Given the description of an element on the screen output the (x, y) to click on. 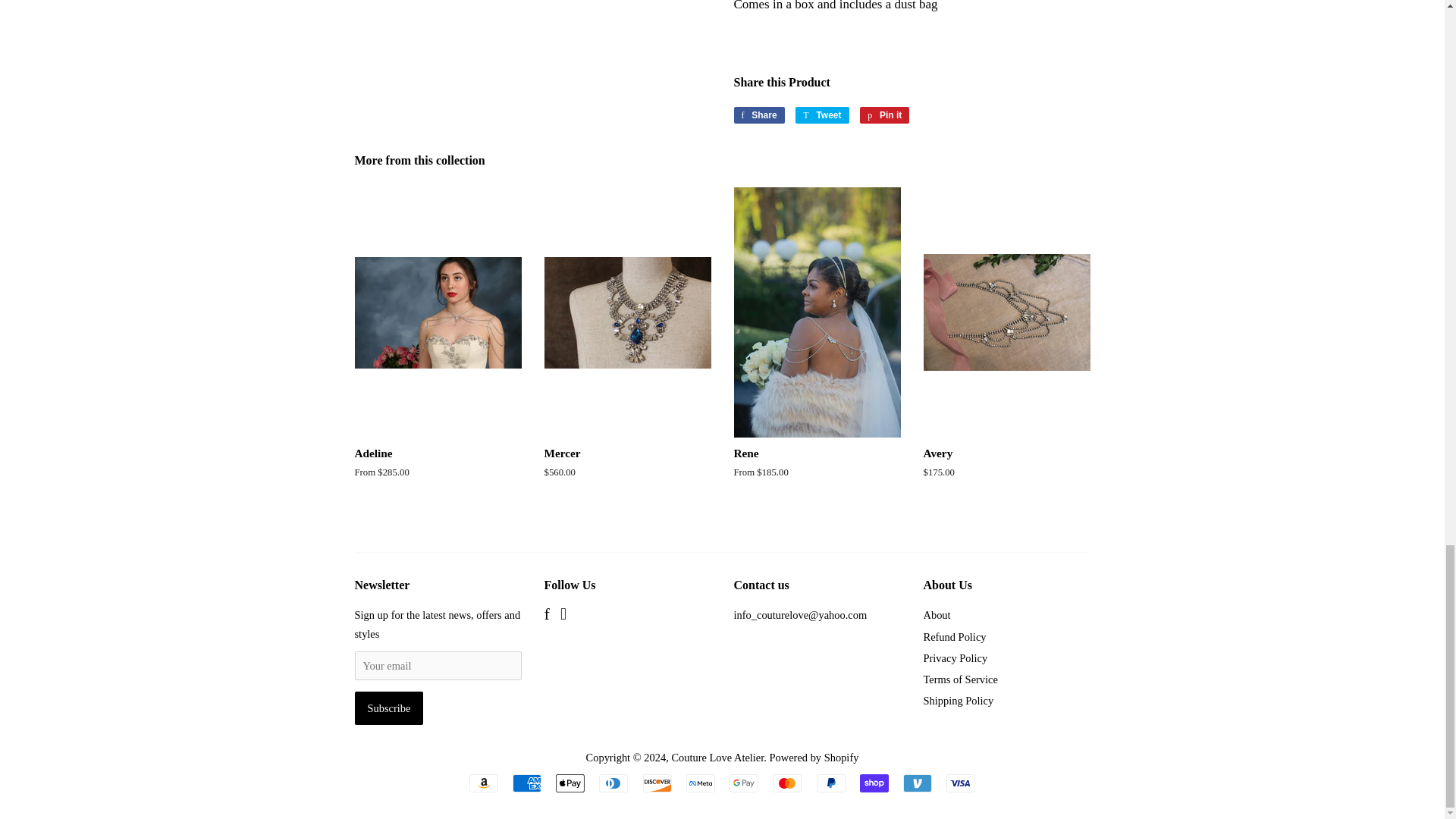
Tweet on Twitter (821, 115)
Discover (657, 782)
Mastercard (787, 782)
Subscribe (389, 707)
Apple Pay (758, 115)
Visa (570, 782)
PayPal (960, 782)
American Express (830, 782)
Diners Club (821, 115)
Google Pay (526, 782)
Meta Pay (884, 115)
Shop Pay (612, 782)
